Given the description of an element on the screen output the (x, y) to click on. 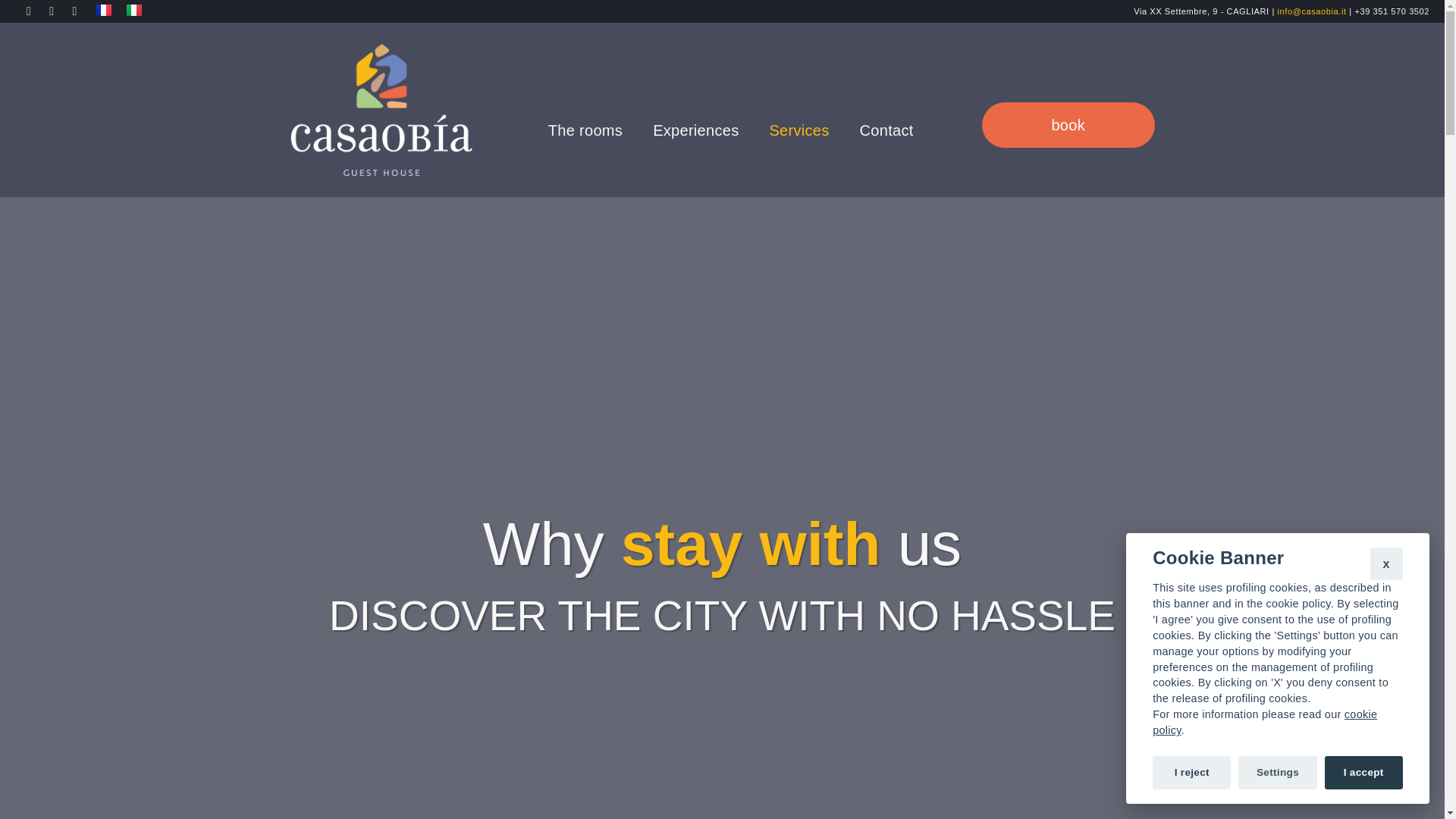
Contact (886, 130)
The rooms (584, 130)
book (1067, 125)
Experiences (695, 130)
Services (799, 130)
